Given the description of an element on the screen output the (x, y) to click on. 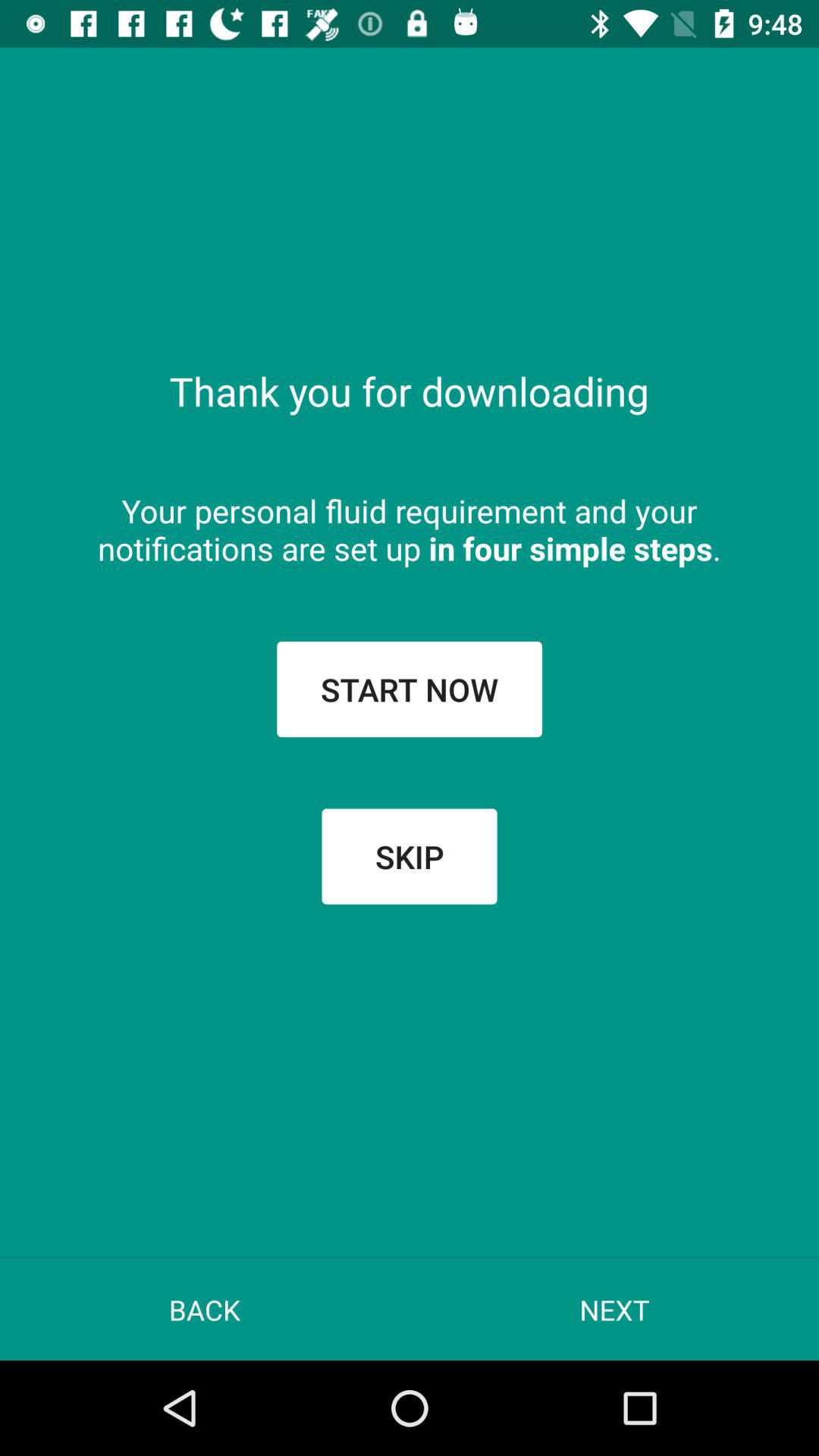
swipe until the skip button (409, 856)
